Given the description of an element on the screen output the (x, y) to click on. 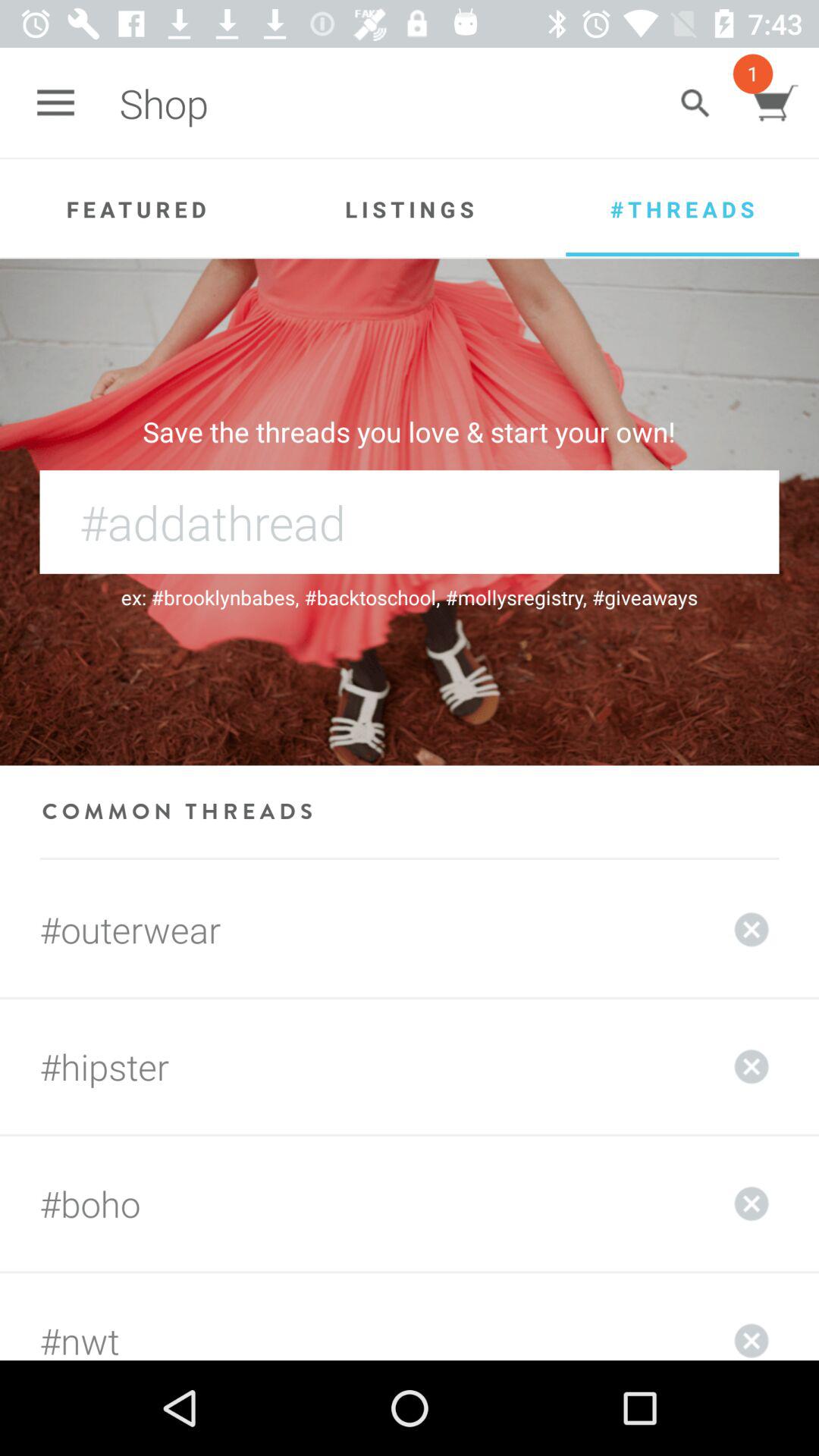
to delete the order (751, 929)
